Given the description of an element on the screen output the (x, y) to click on. 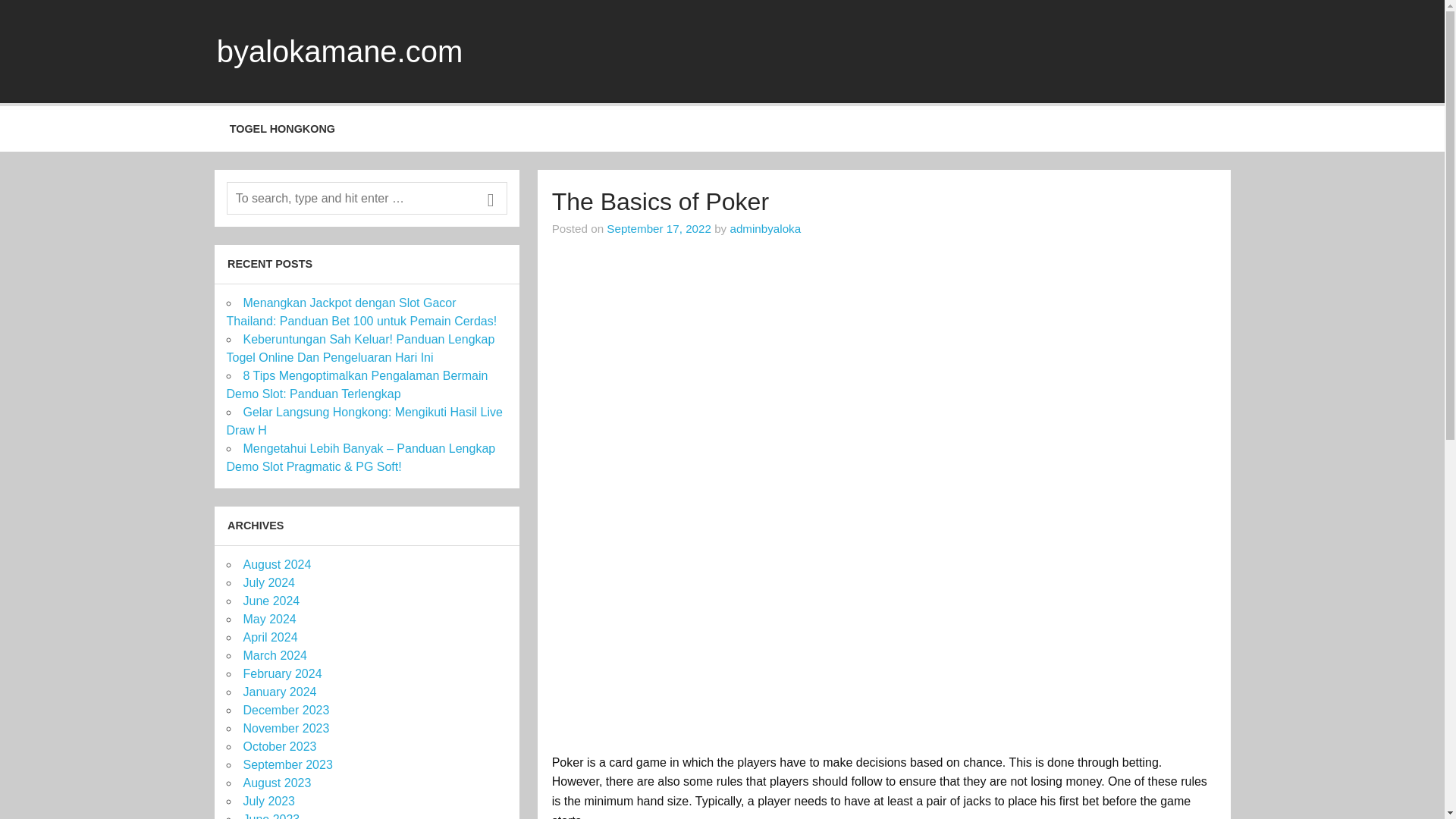
April 2024 (270, 636)
View all posts by adminbyaloka (764, 228)
January 2024 (279, 691)
October 2023 (279, 746)
June 2023 (271, 816)
July 2023 (269, 800)
February 2024 (282, 673)
adminbyaloka (764, 228)
November 2023 (286, 727)
